Given the description of an element on the screen output the (x, y) to click on. 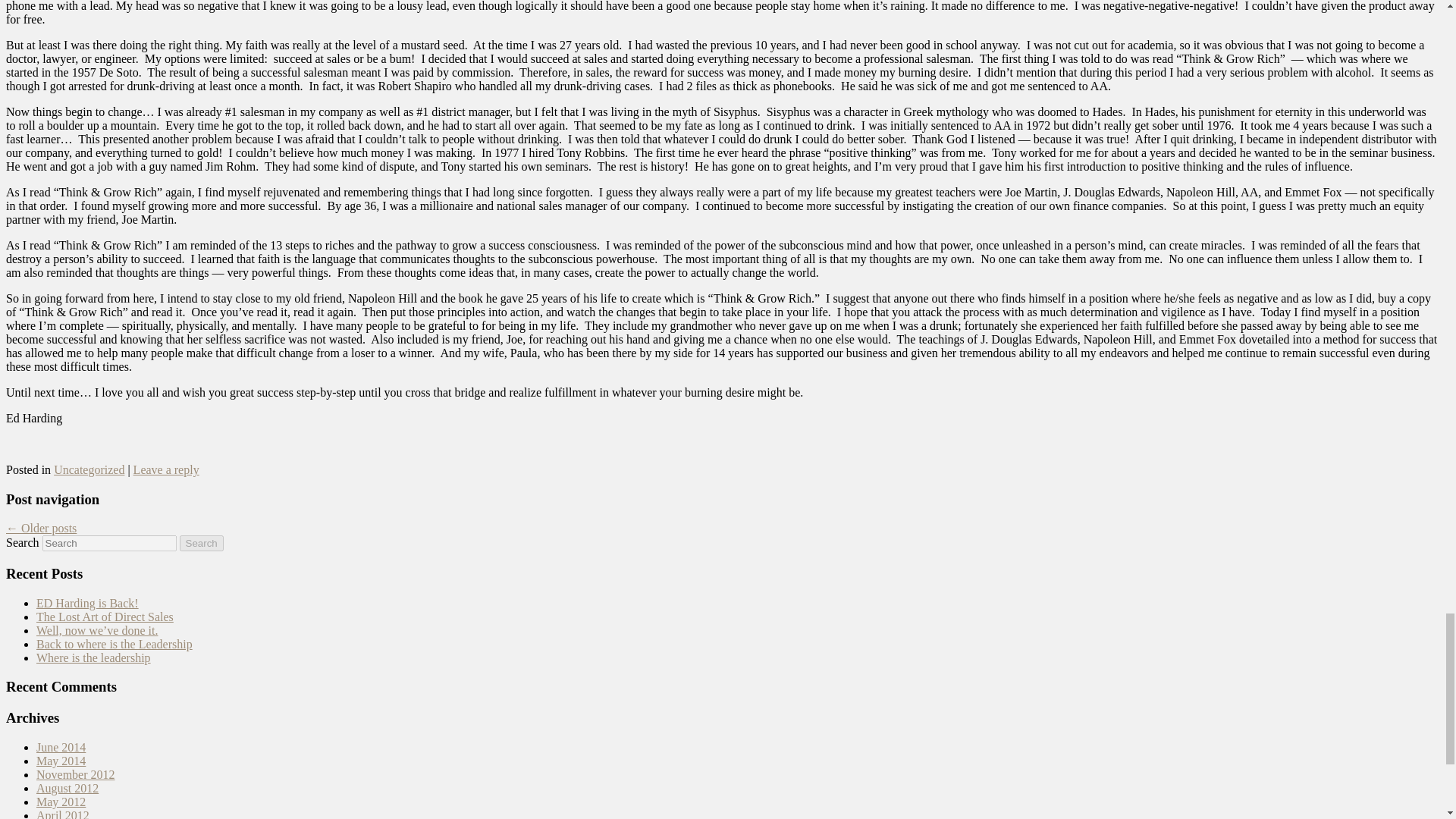
Search (201, 543)
